Given the description of an element on the screen output the (x, y) to click on. 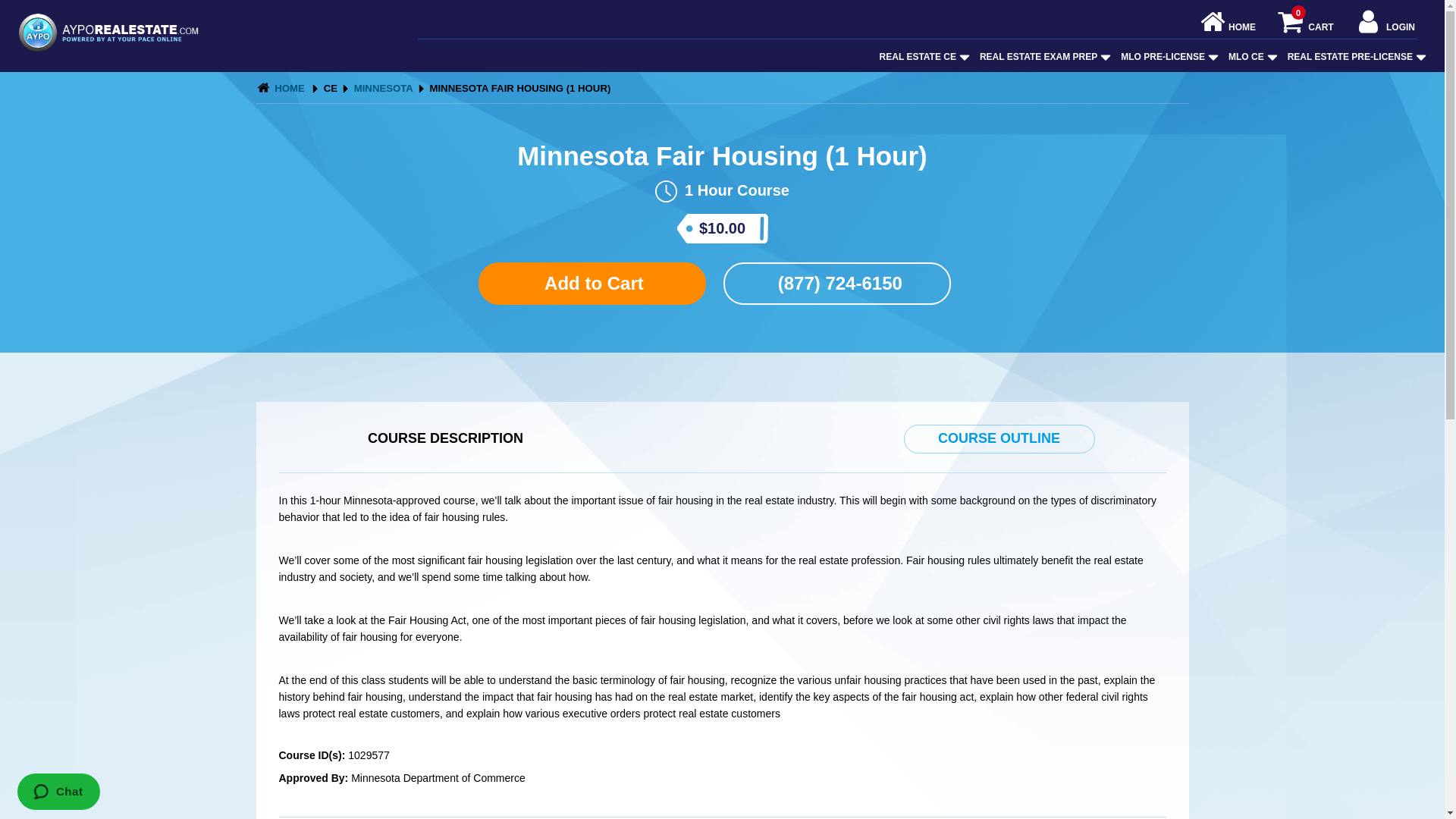
REAL ESTATE CE (1304, 27)
HOME (917, 56)
LOGIN (1227, 27)
